Given the description of an element on the screen output the (x, y) to click on. 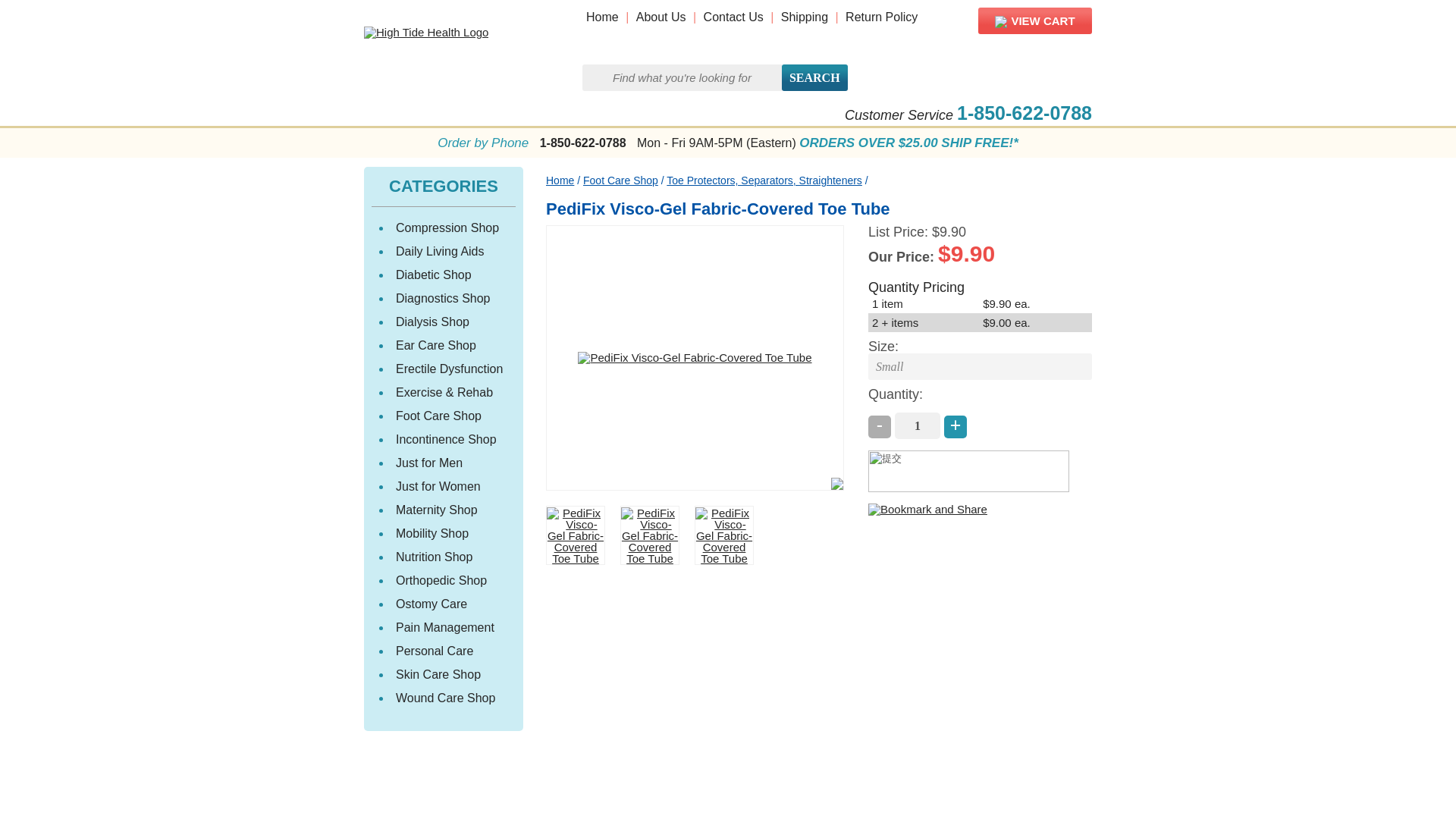
Pain Management (445, 626)
Incontinence Shop (446, 439)
Search (813, 77)
Ear Care Shop (436, 345)
Erectile Dysfunction (449, 368)
Foot Care Shop (438, 415)
Search (813, 77)
PediFix Visco-Gel Fabric-Covered Toe Tube (575, 535)
Home (559, 180)
1 (917, 425)
